Given the description of an element on the screen output the (x, y) to click on. 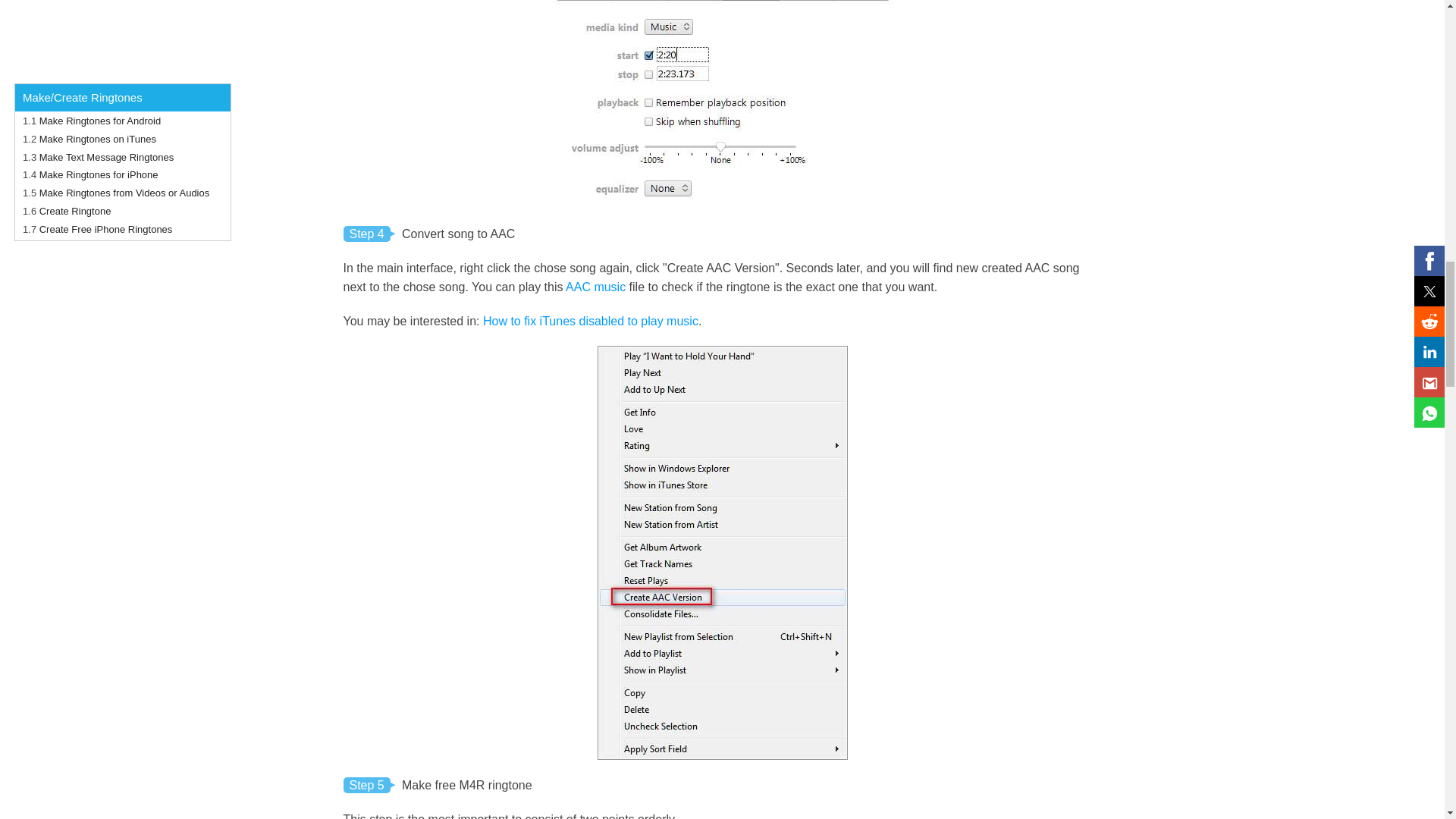
AAC music (596, 286)
How to fix iTunes disabled to play music (590, 320)
